Given the description of an element on the screen output the (x, y) to click on. 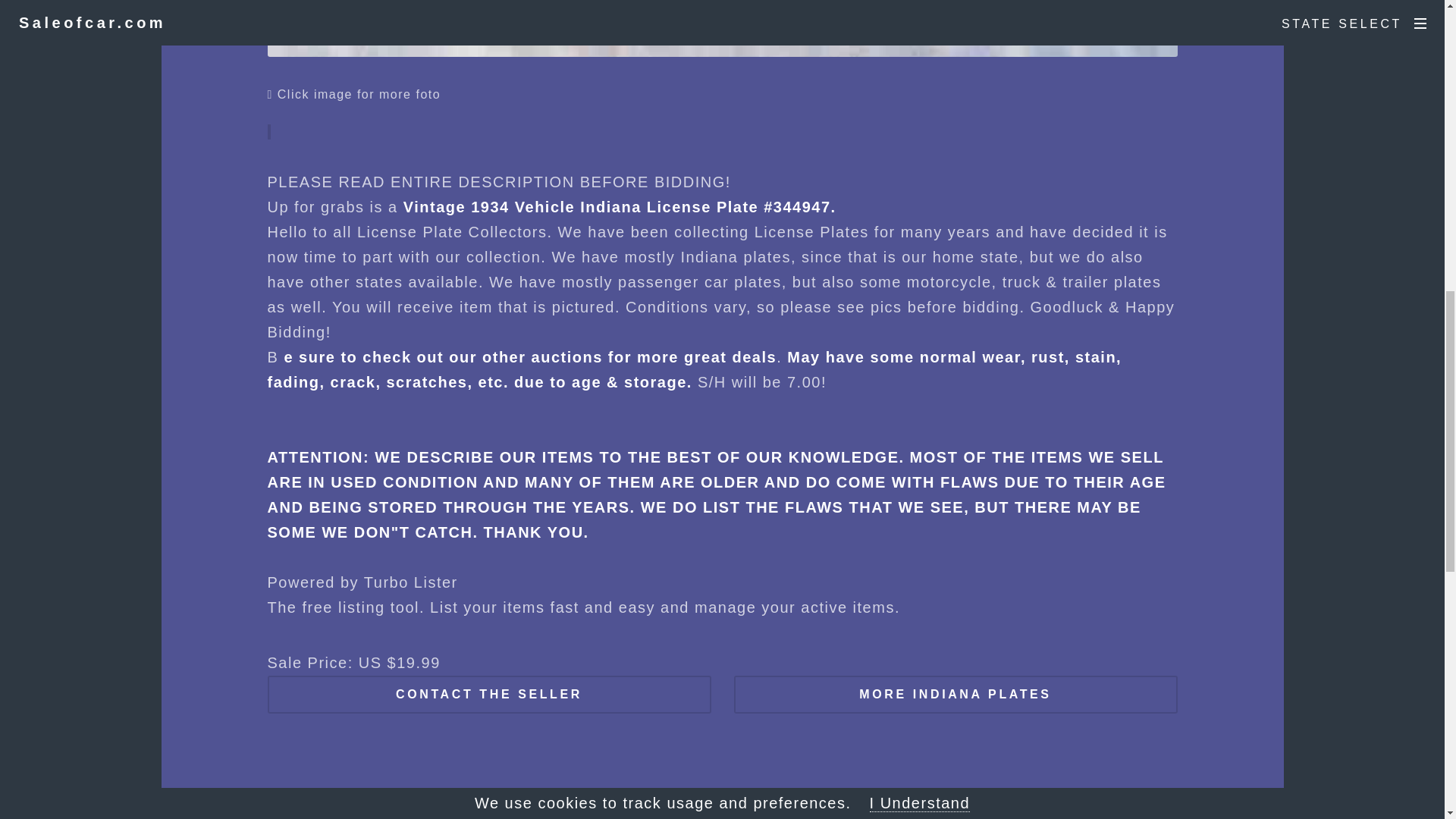
MORE INDIANA PLATES (955, 694)
CONTACT THE SELLER (488, 694)
